Given the description of an element on the screen output the (x, y) to click on. 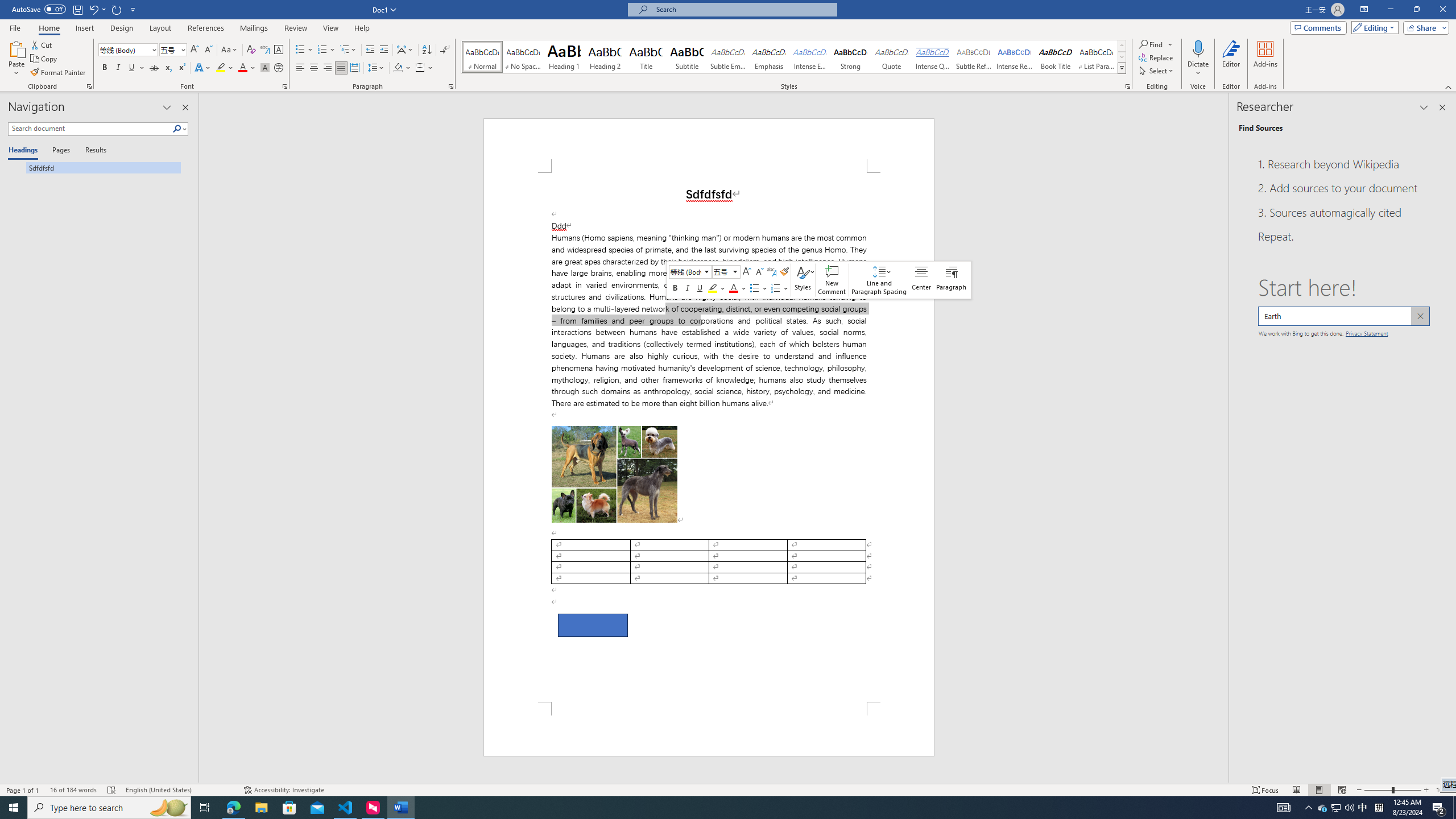
Quote (891, 56)
